Given the description of an element on the screen output the (x, y) to click on. 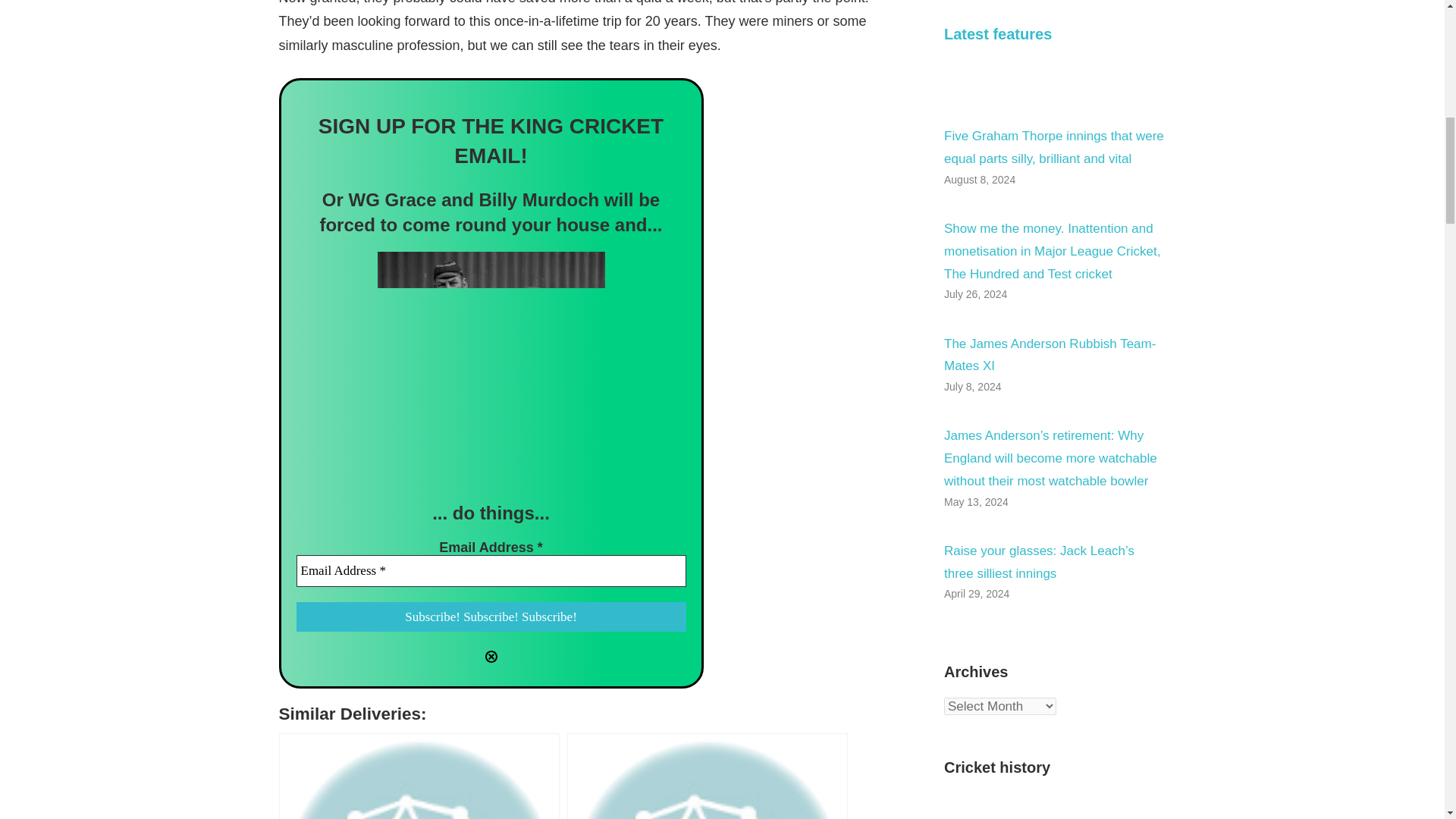
Latest features (997, 33)
Subscribe! Subscribe! Subscribe! (490, 616)
Email Address (490, 571)
Subscribe! Subscribe! Subscribe! (490, 616)
Abandoned West Indies tour is not in the spirit of cricket (707, 776)
Abandoned West Indies tour is not in the spirit of cricket (707, 776)
